Given the description of an element on the screen output the (x, y) to click on. 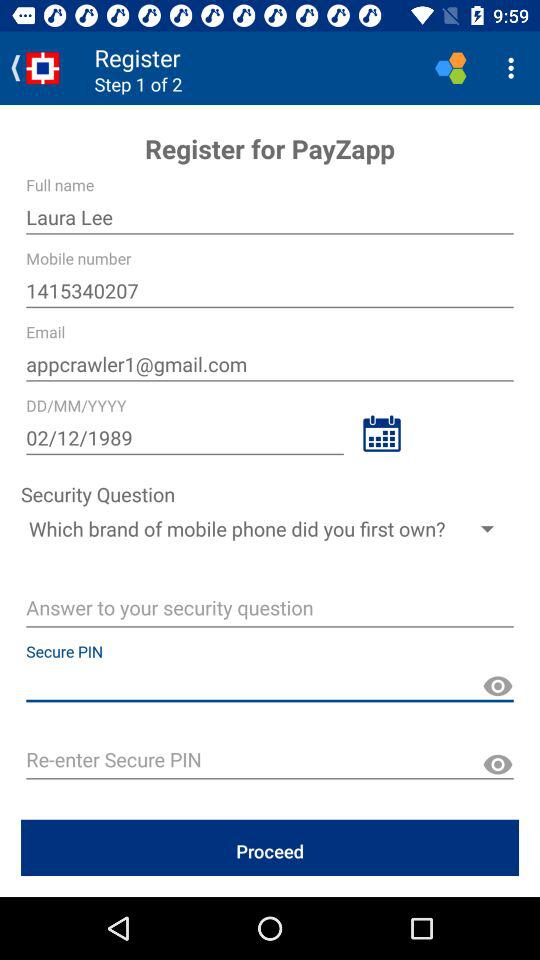
toggle autoplay option (270, 610)
